Given the description of an element on the screen output the (x, y) to click on. 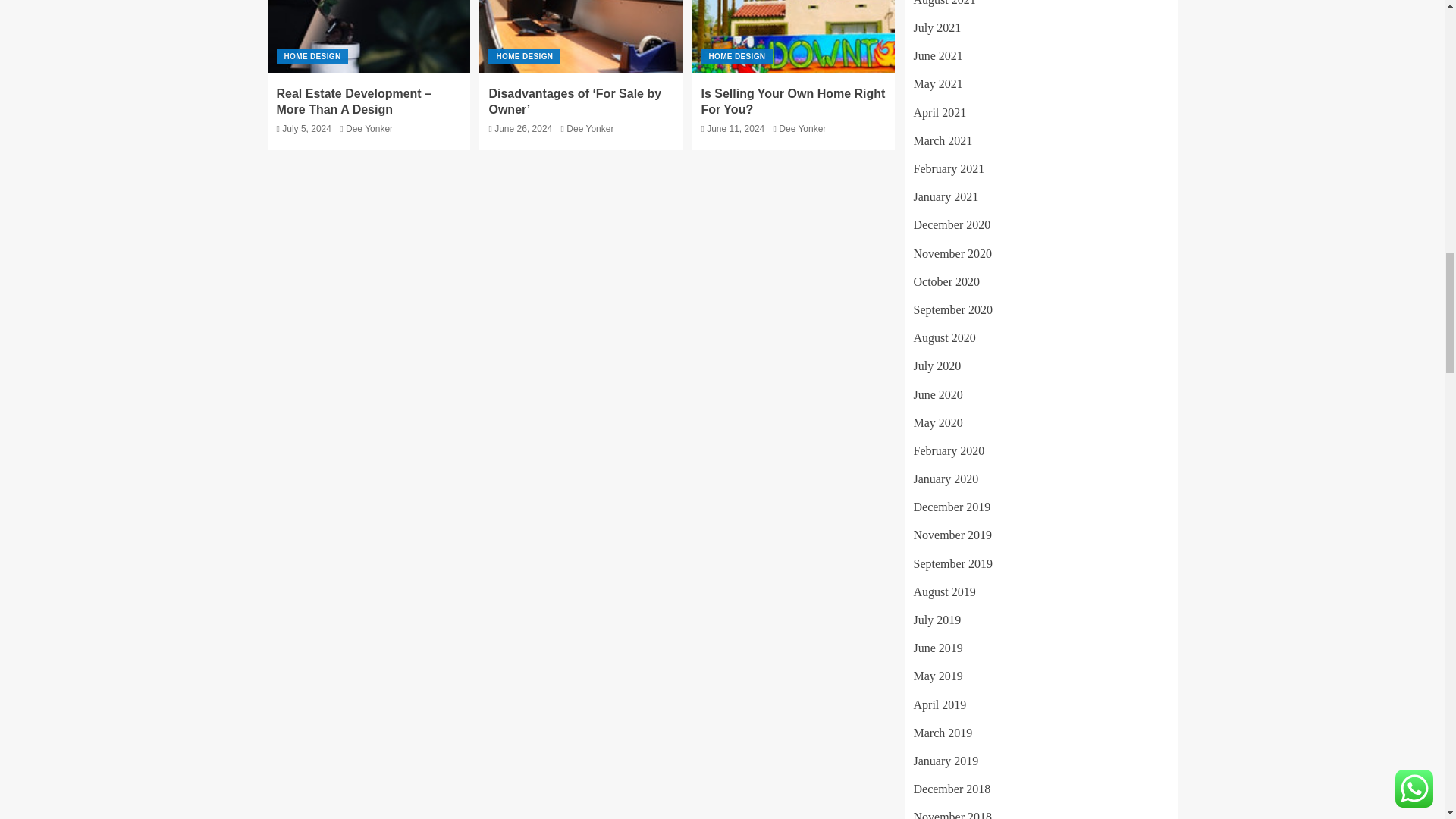
HOME DESIGN (311, 56)
Dee Yonker (369, 128)
Is Selling Your Own Home Right For You? (793, 36)
